Given the description of an element on the screen output the (x, y) to click on. 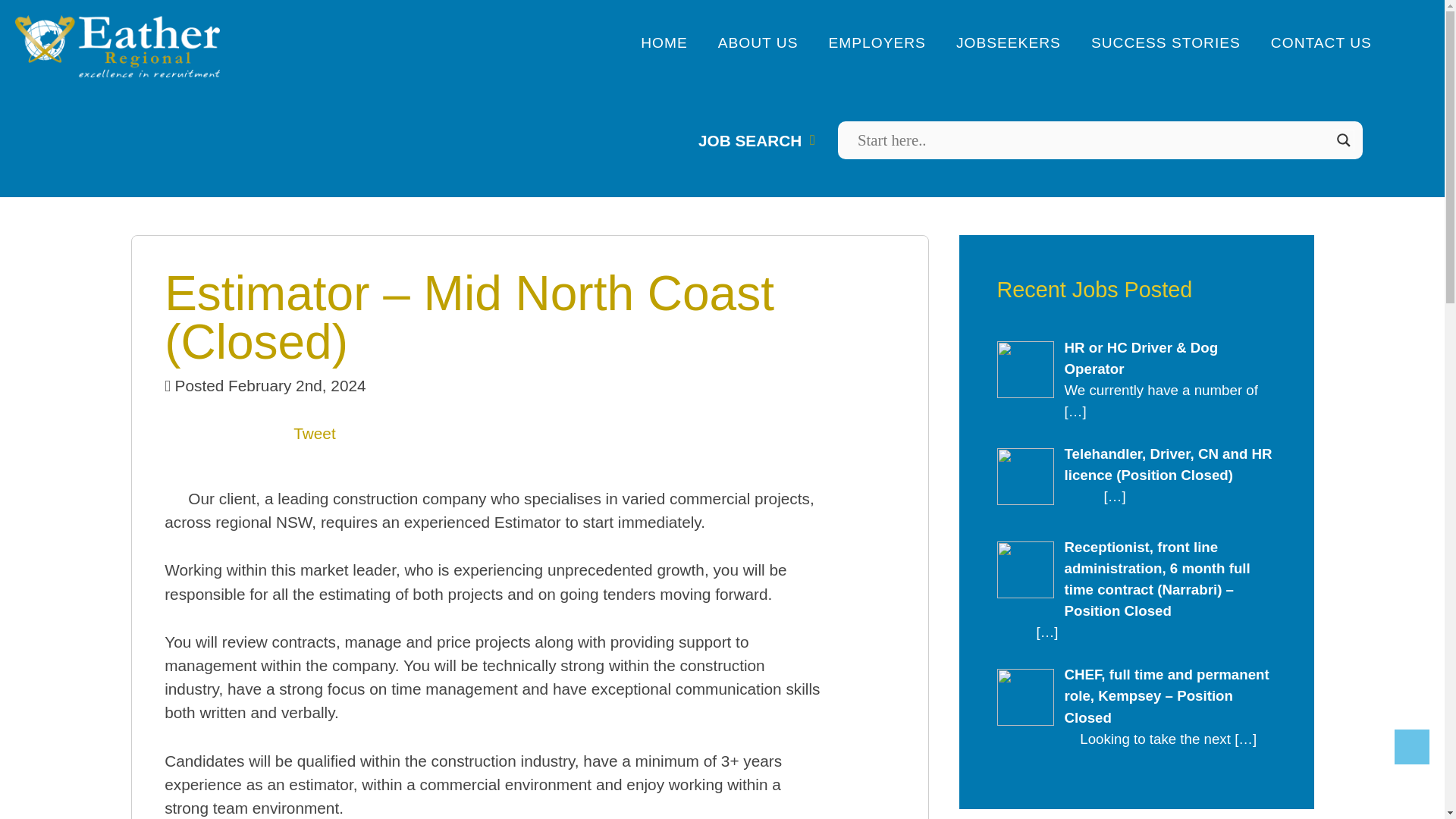
Tweet (315, 433)
JOBSEEKERS (1008, 43)
HOME (663, 43)
CONTACT US (1321, 43)
SUCCESS STORIES (1165, 43)
ABOUT US (757, 43)
EMPLOYERS (876, 43)
